Given the description of an element on the screen output the (x, y) to click on. 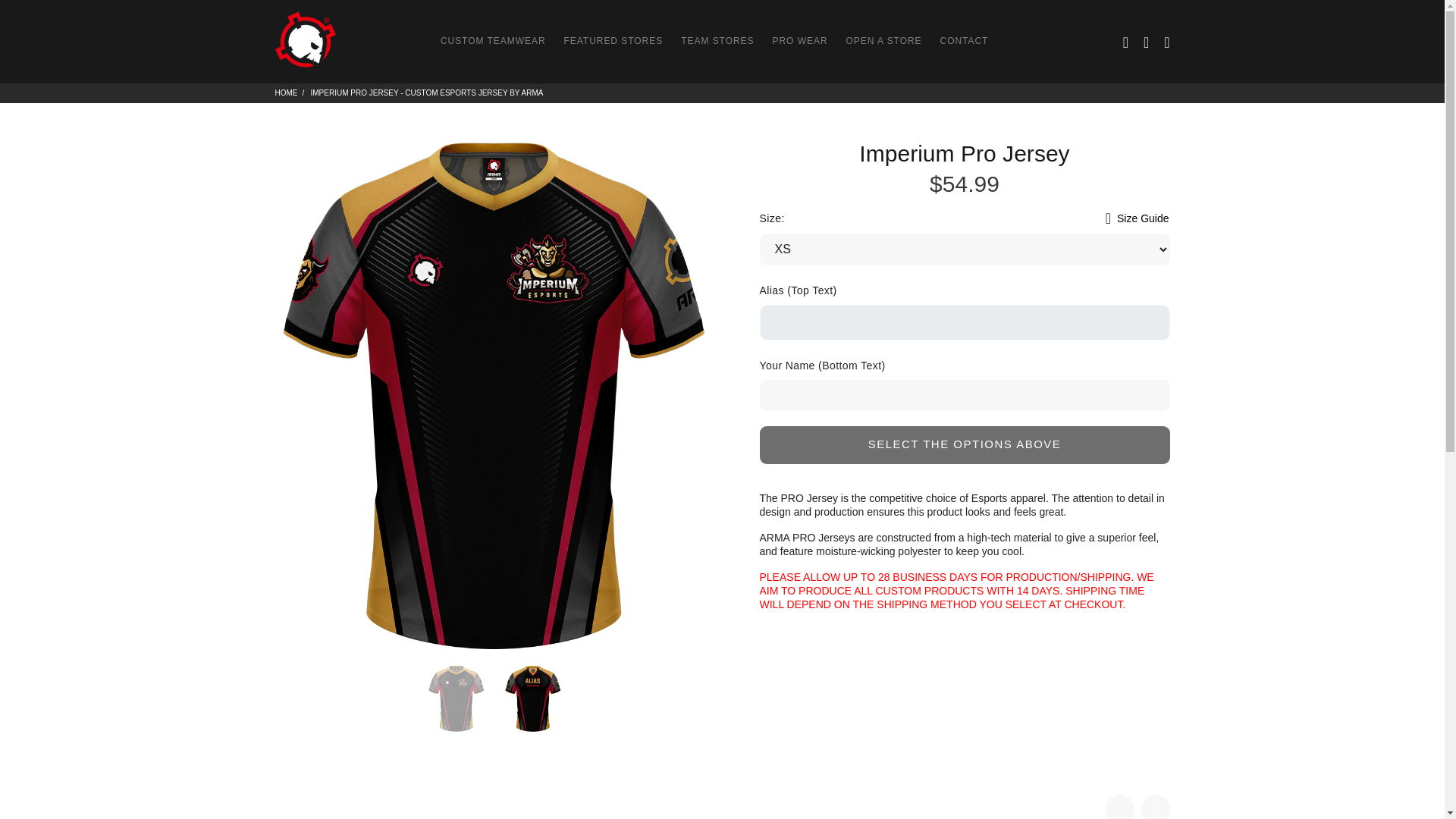
CUSTOM TEAMWEAR (492, 41)
